Given the description of an element on the screen output the (x, y) to click on. 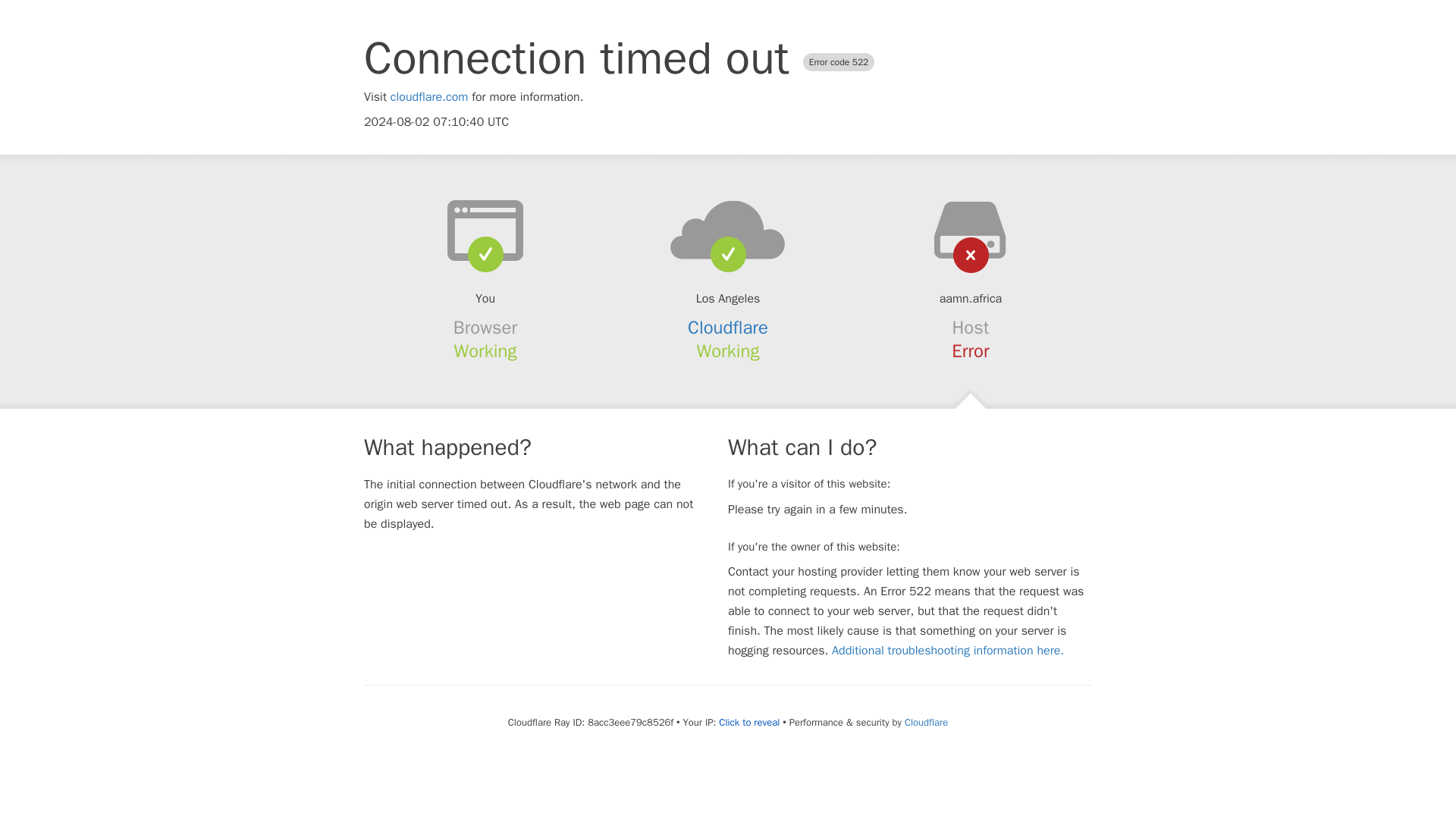
Click to reveal (748, 722)
Cloudflare (727, 327)
Cloudflare (925, 721)
cloudflare.com (429, 96)
Additional troubleshooting information here. (947, 650)
